Given the description of an element on the screen output the (x, y) to click on. 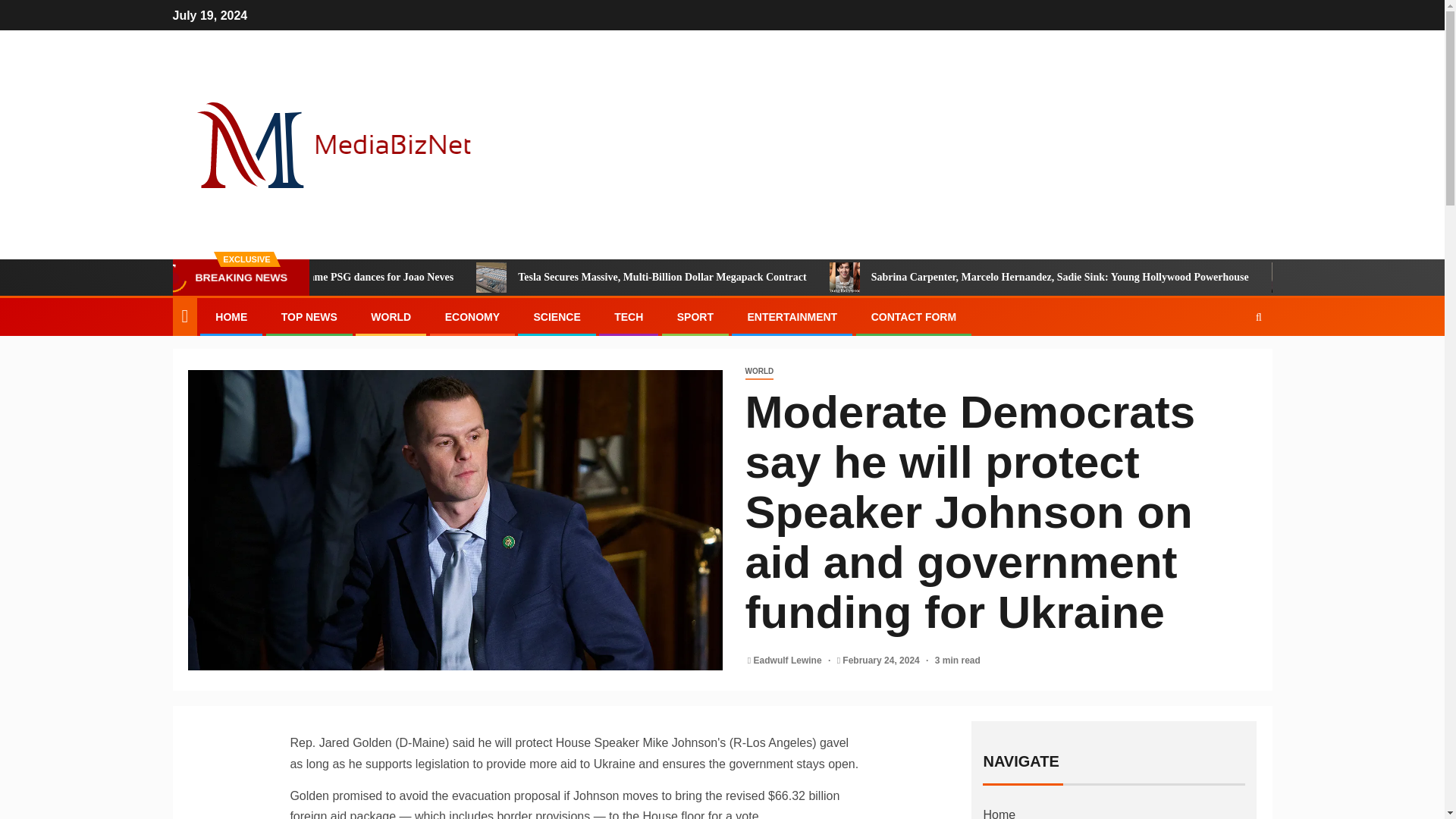
WORLD (390, 316)
TECH (628, 316)
English big name PSG dances for Joao Neves (446, 277)
SPORT (695, 316)
HOME (231, 316)
WORLD (758, 371)
Search (1258, 316)
ECONOMY (472, 316)
ENTERTAINMENT (791, 316)
TOP NEWS (309, 316)
SCIENCE (555, 316)
English big name PSG dances for Joao Neves (298, 277)
